Given the description of an element on the screen output the (x, y) to click on. 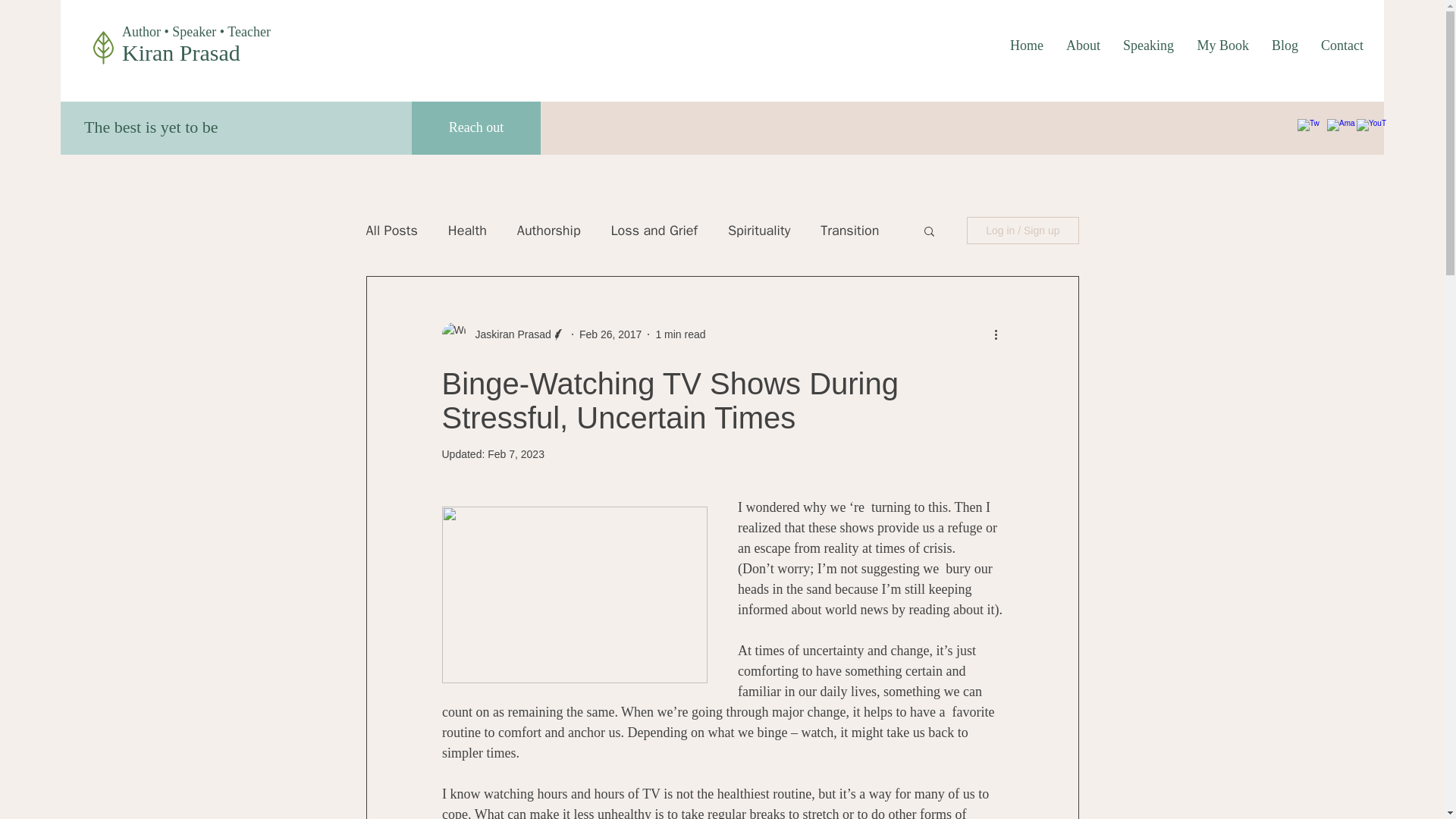
All Posts (390, 230)
Authorship (548, 230)
Health (467, 230)
Speaking (1148, 45)
1 min read (679, 333)
Feb 26, 2017 (610, 333)
Home (1026, 45)
Transition (850, 230)
Spirituality (759, 230)
My Book (1222, 45)
Jaskiran Prasad (507, 333)
Feb 7, 2023 (515, 453)
Loss and Grief (654, 230)
Contact (1341, 45)
Blog (1284, 45)
